Given the description of an element on the screen output the (x, y) to click on. 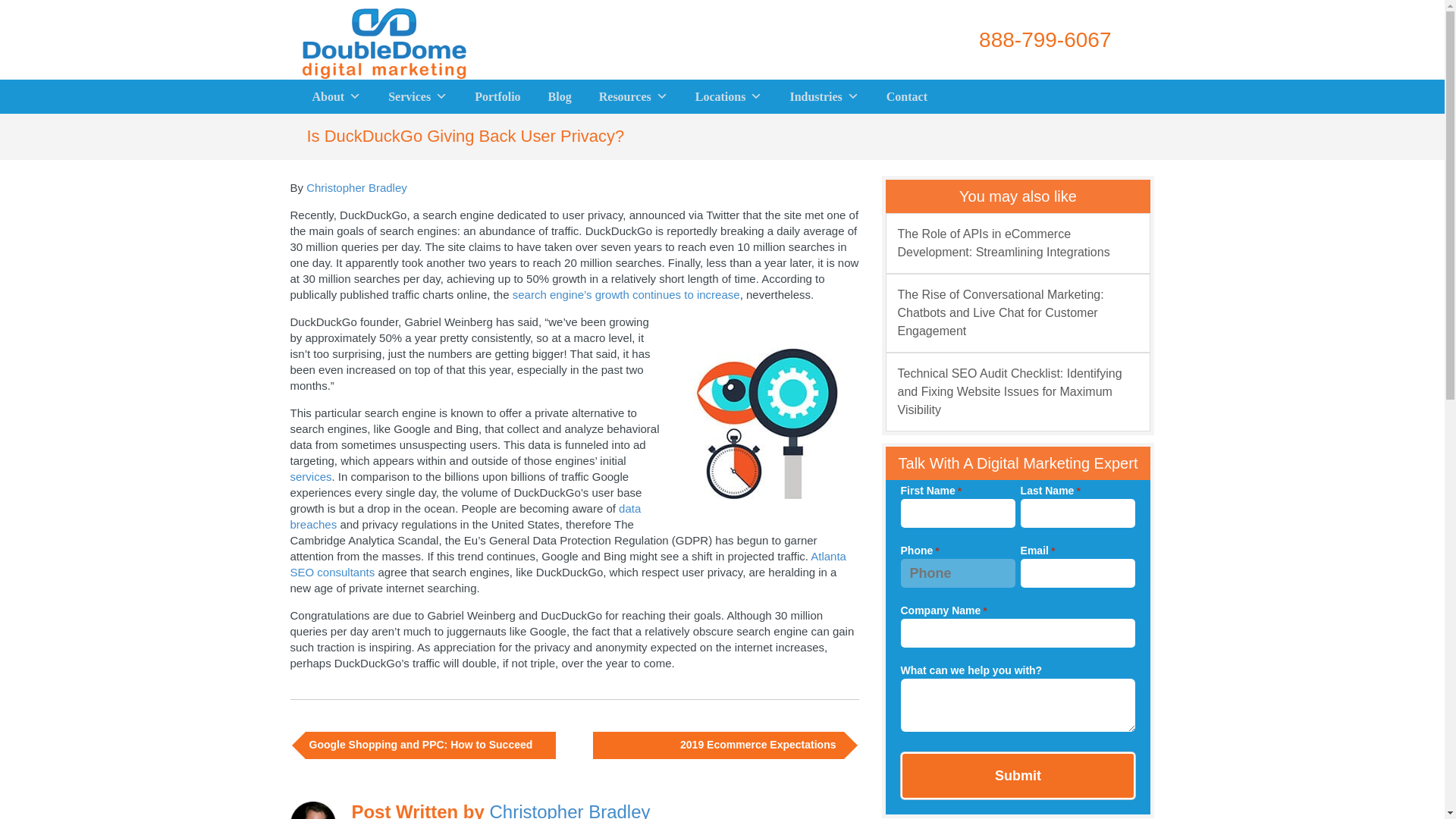
Portfolio (497, 96)
Services (417, 96)
Locations (728, 96)
Resources (633, 96)
Submit (1018, 775)
Posts by Christopher Bradley (356, 187)
Contact DoubleDome Digital Marketing (906, 96)
About (336, 96)
888-799-6067 (1025, 39)
Atlanta Digital Marketing Services (417, 96)
About DoubleDome Digital Marketing (336, 96)
2019 Ecommerce Expectations (715, 744)
Blog (559, 96)
